Given the description of an element on the screen output the (x, y) to click on. 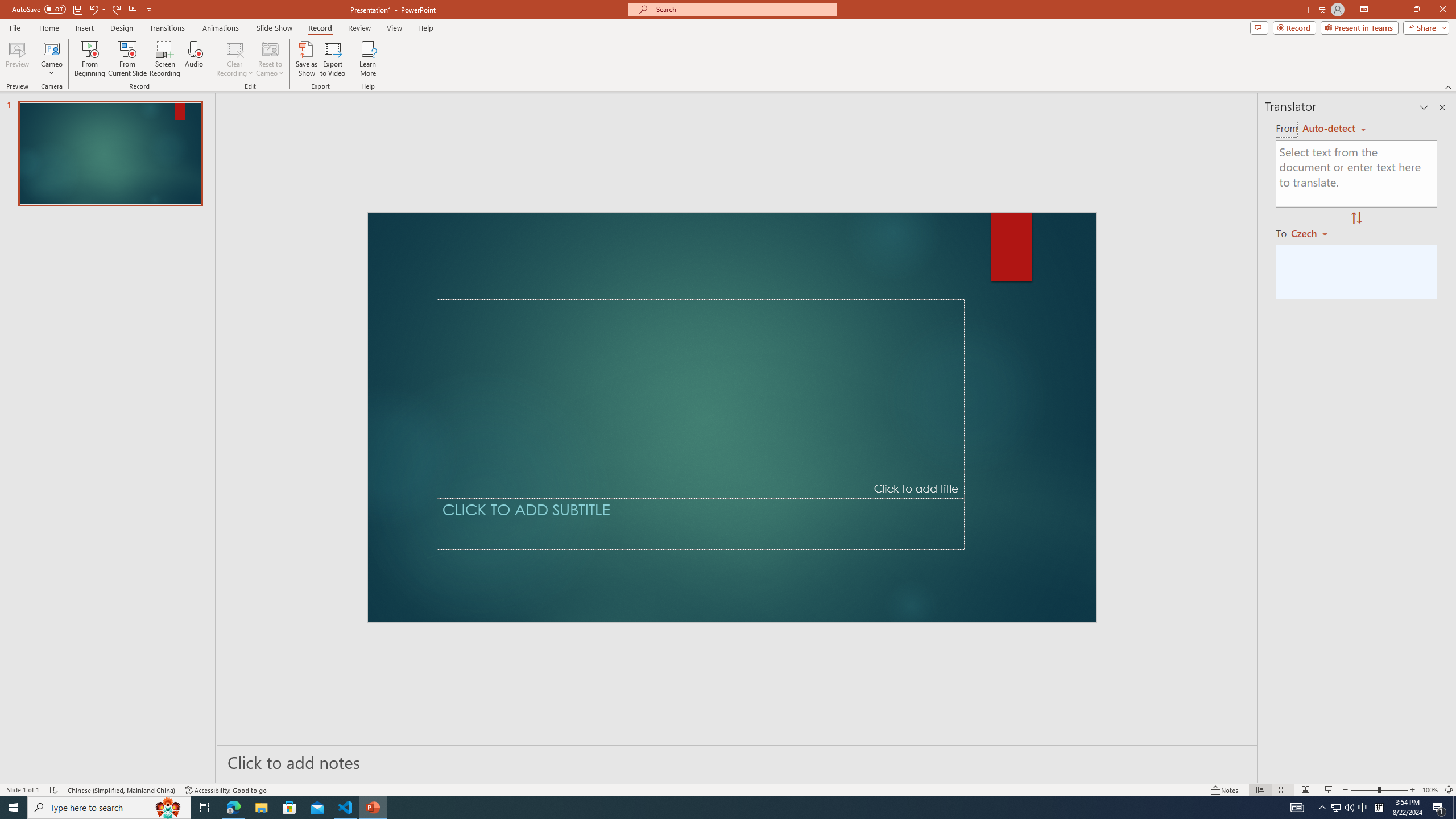
Preview (17, 58)
Czech (1313, 232)
Export to Video (332, 58)
Auto-detect (1334, 128)
Learn More (368, 58)
